Given the description of an element on the screen output the (x, y) to click on. 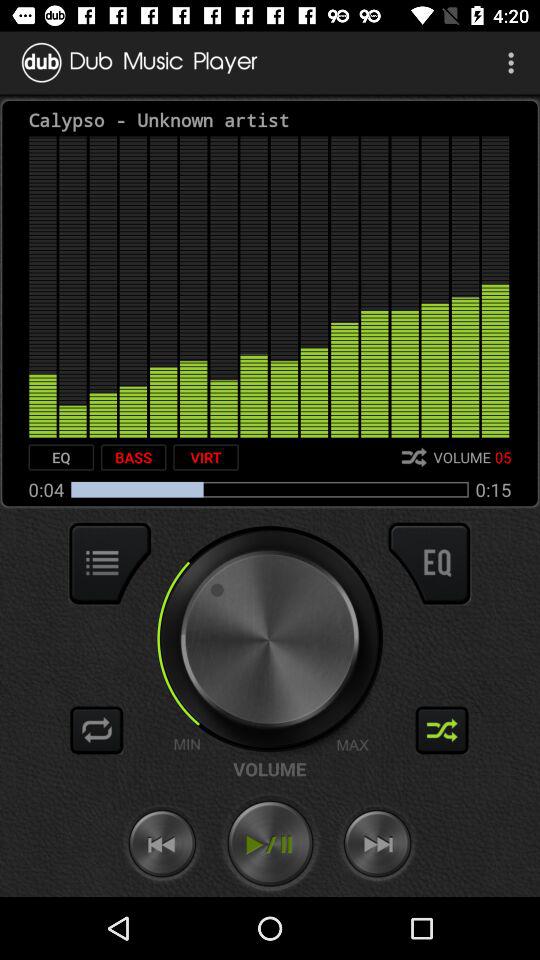
change the track (97, 730)
